Given the description of an element on the screen output the (x, y) to click on. 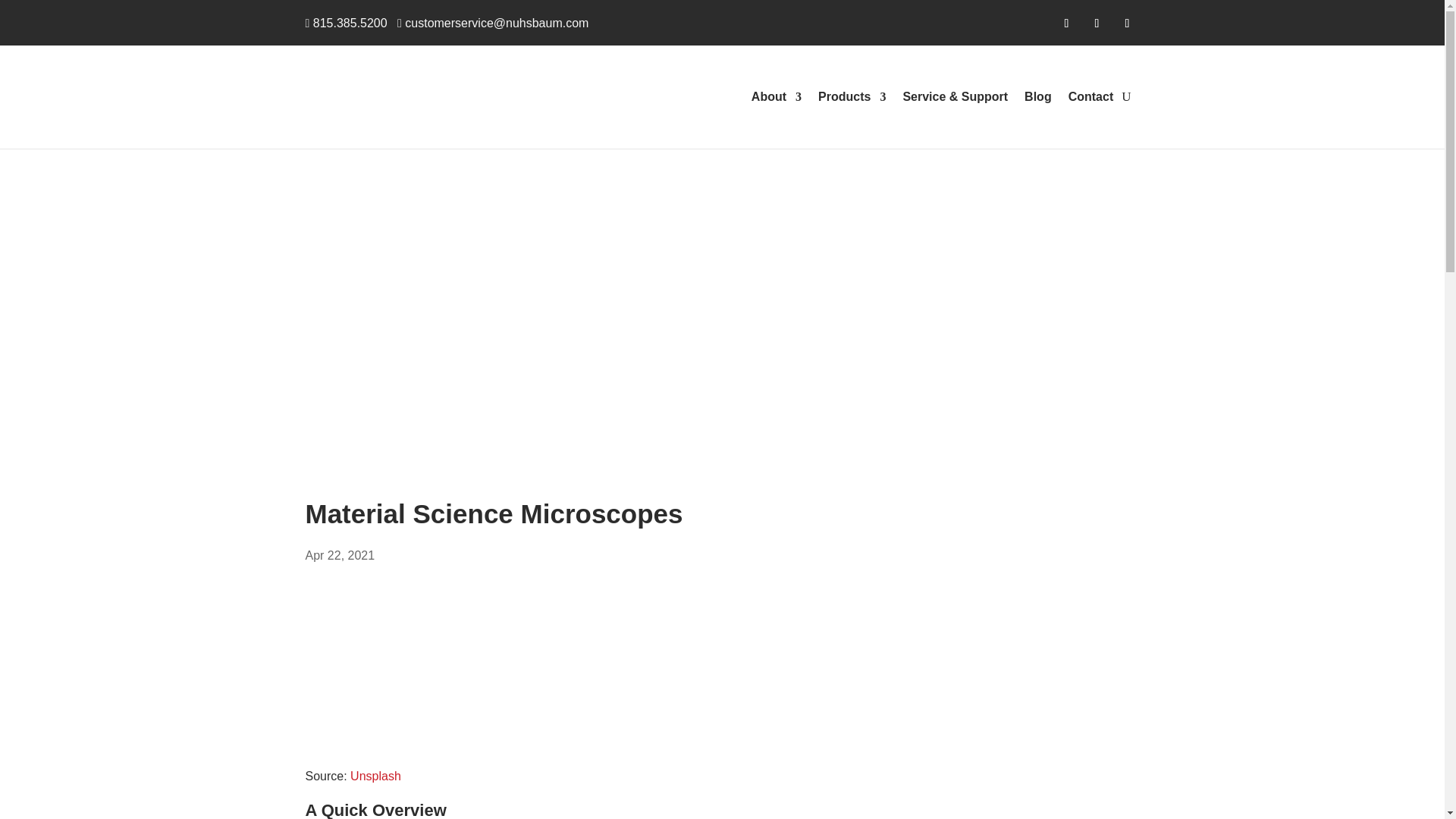
Products (851, 96)
Follow on Facebook (1066, 23)
Contact (1090, 96)
About (776, 96)
Follow on X (1096, 23)
Follow on LinkedIn (1126, 23)
Blog (1038, 96)
Unsplash (375, 775)
